Given the description of an element on the screen output the (x, y) to click on. 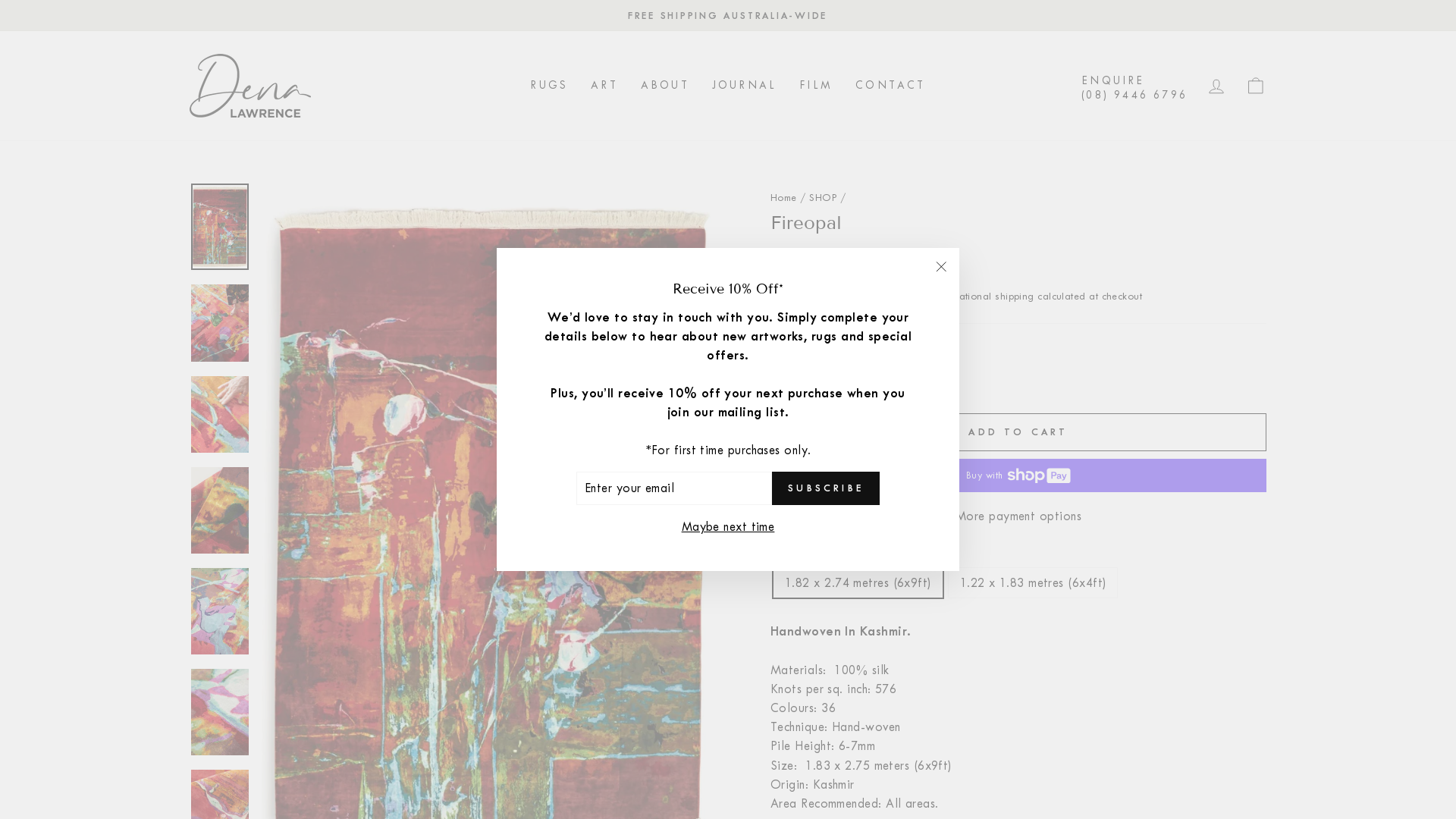
CONTACT Element type: text (890, 86)
ABOUT Element type: text (664, 86)
"Close (esc)" Element type: text (940, 265)
More payment options Element type: text (1018, 515)
RUGS Element type: text (548, 86)
ADD TO CART Element type: text (1018, 432)
+ Element type: text (819, 380)
ENQUIRE
(08) 9446 6796 Element type: text (1134, 85)
FILM Element type: text (815, 86)
Skip to content Element type: text (0, 0)
SHOP Element type: text (823, 197)
Maybe next time Element type: text (728, 525)
SUBSCRIBE Element type: text (825, 488)
Home Element type: text (783, 197)
JOURNAL Element type: text (743, 86)
CART Element type: text (1255, 85)
LOG IN Element type: text (1216, 85)
ART Element type: text (604, 86)
FREE SHIPPING AUSTRALIA-WIDE Element type: text (727, 15)
